Given the description of an element on the screen output the (x, y) to click on. 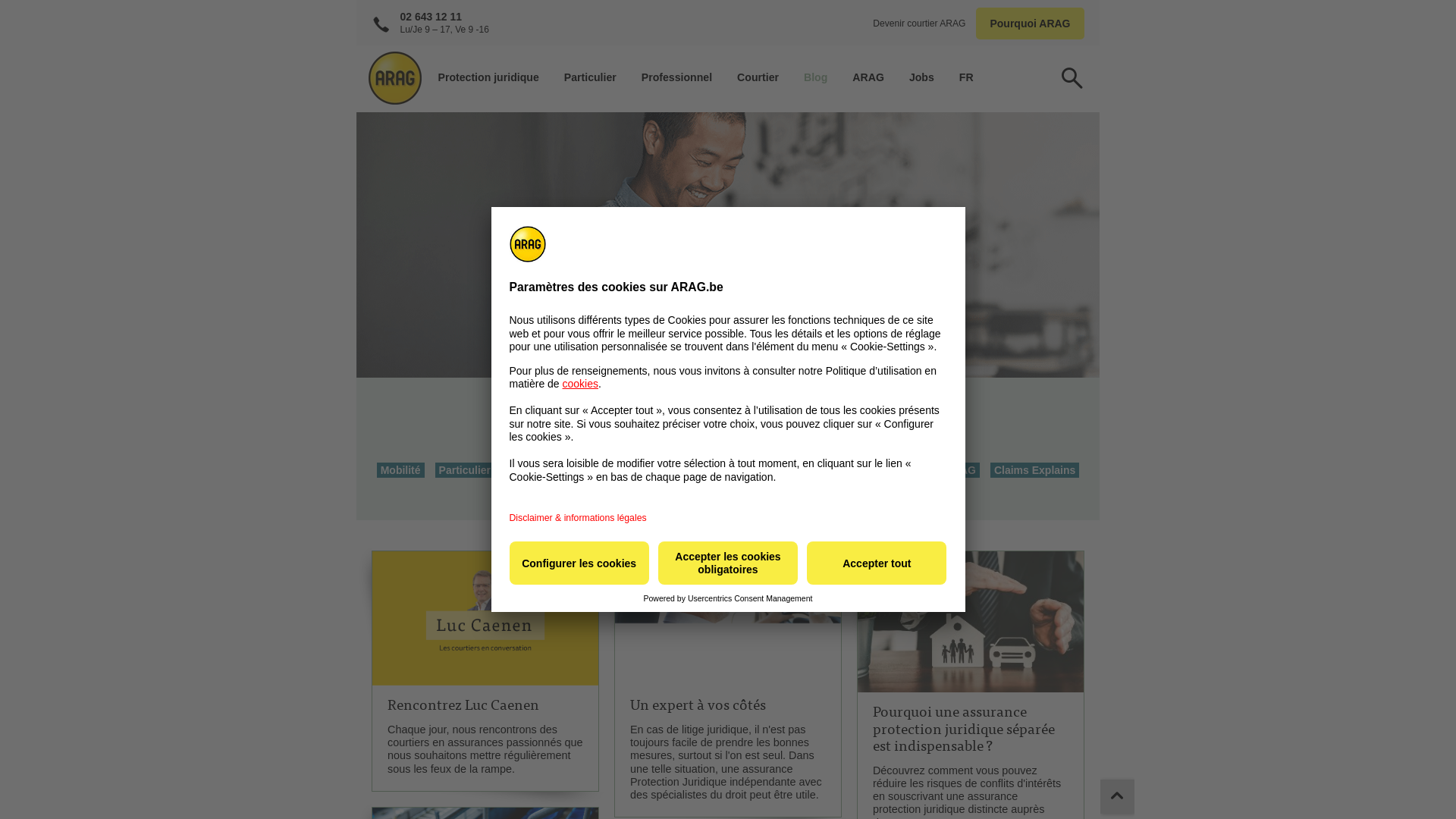
Jobs Element type: text (921, 77)
Pourquoi ARAG Element type: text (1030, 23)
Le saviez-vous? Element type: text (777, 469)
Lien vers la page d'accueil Element type: hover (391, 77)
0 Element type: text (1117, 796)
Blog Element type: text (815, 77)
Claims Explains Element type: text (1034, 469)
Blog_homme-tablet_980*350withfilter Element type: hover (727, 244)
Diverse Element type: text (802, 492)
Devenir courtier ARAG Element type: text (919, 23)
Interview avec un courtier Element type: text (699, 492)
Particulier Element type: text (464, 469)
Business Element type: text (532, 469)
Le dossier juridique du mois Element type: text (646, 469)
